Given the description of an element on the screen output the (x, y) to click on. 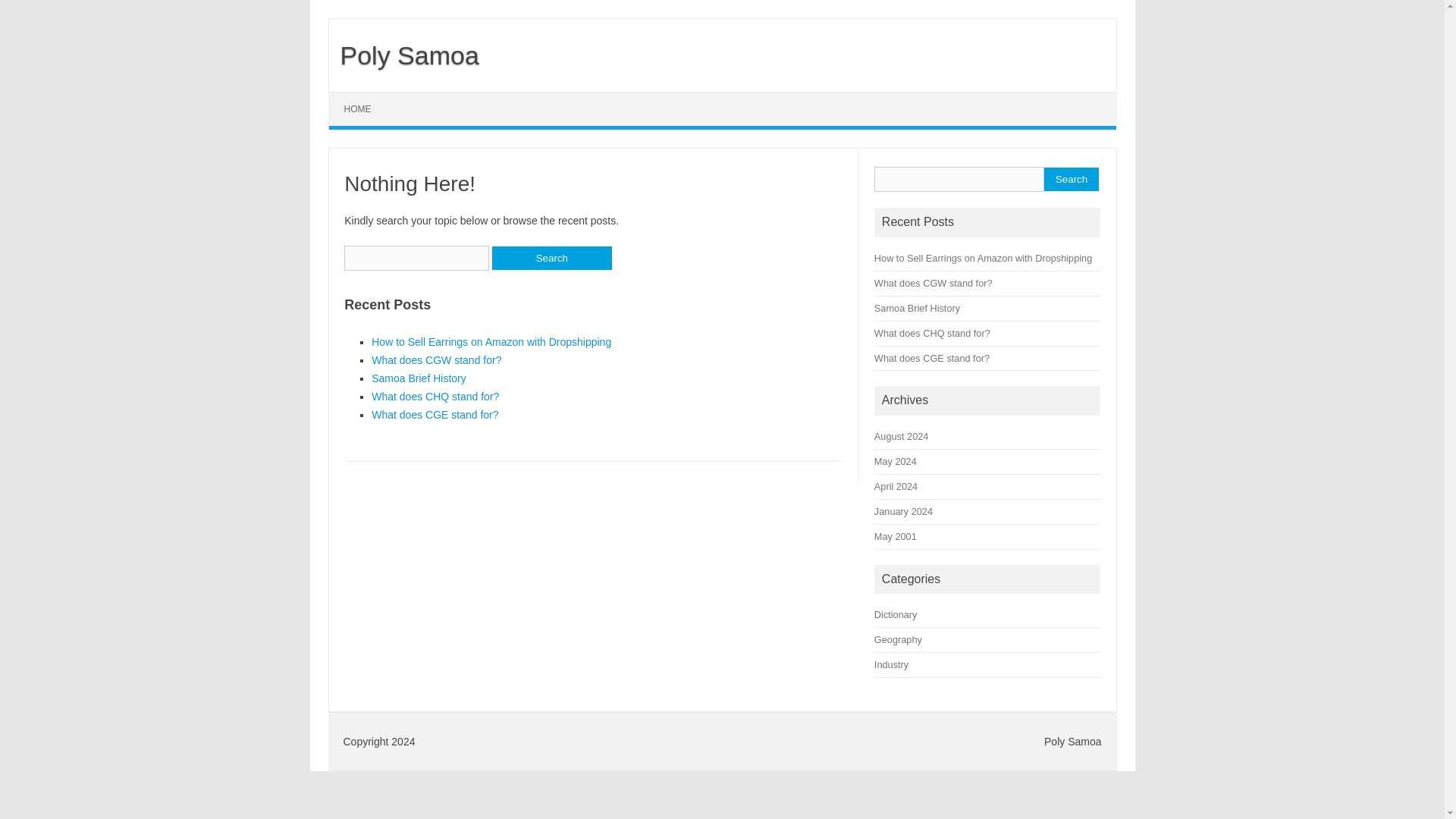
Search (551, 258)
Skip to content (363, 96)
Poly Samoa (404, 54)
Skip to content (363, 96)
Industry (891, 664)
HOME (358, 109)
What does CGE stand for? (932, 357)
What does CHQ stand for? (435, 396)
Search (1070, 178)
What does CHQ stand for? (932, 333)
